Given the description of an element on the screen output the (x, y) to click on. 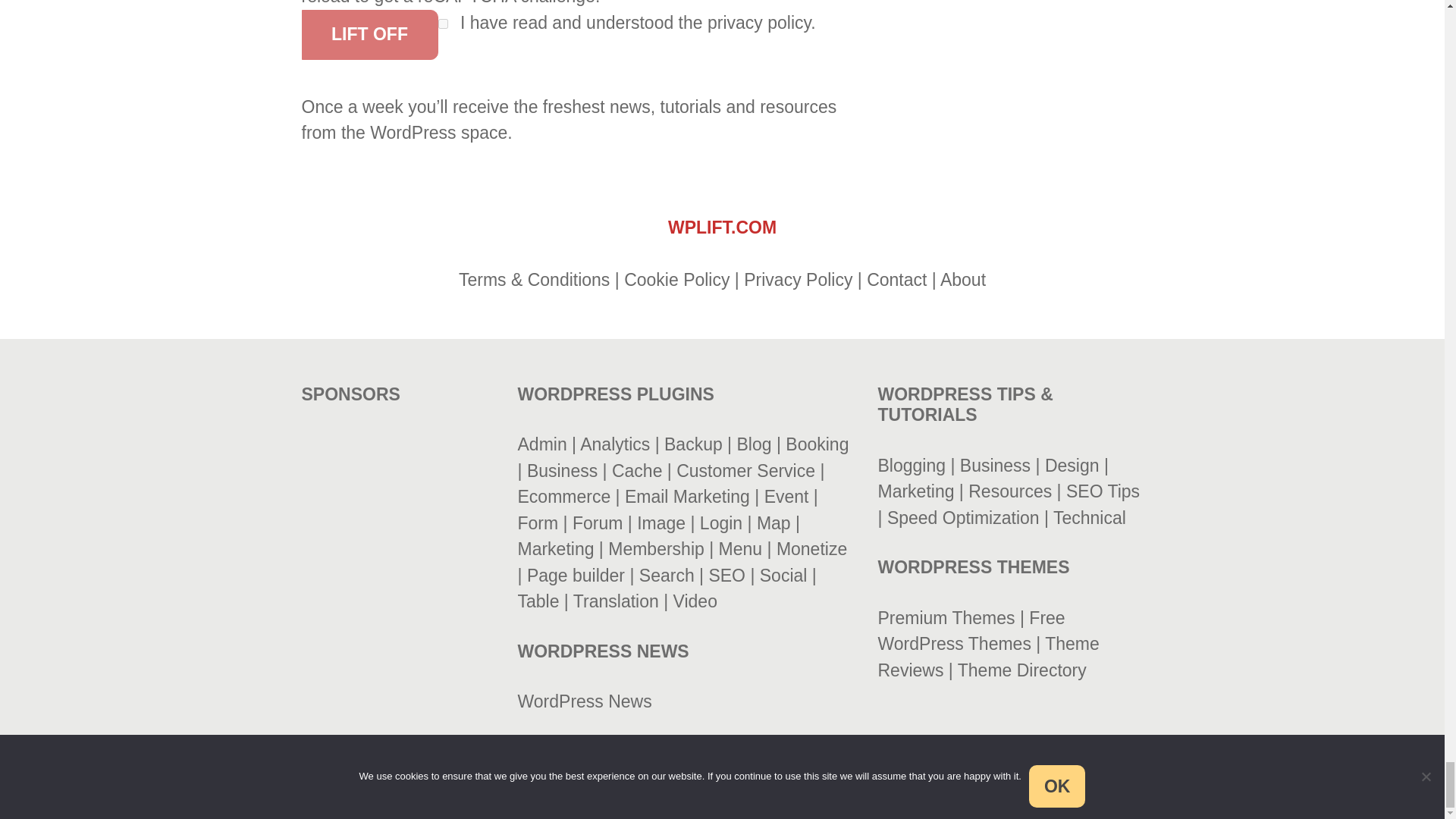
on (443, 23)
Lift OFF (369, 34)
